Given the description of an element on the screen output the (x, y) to click on. 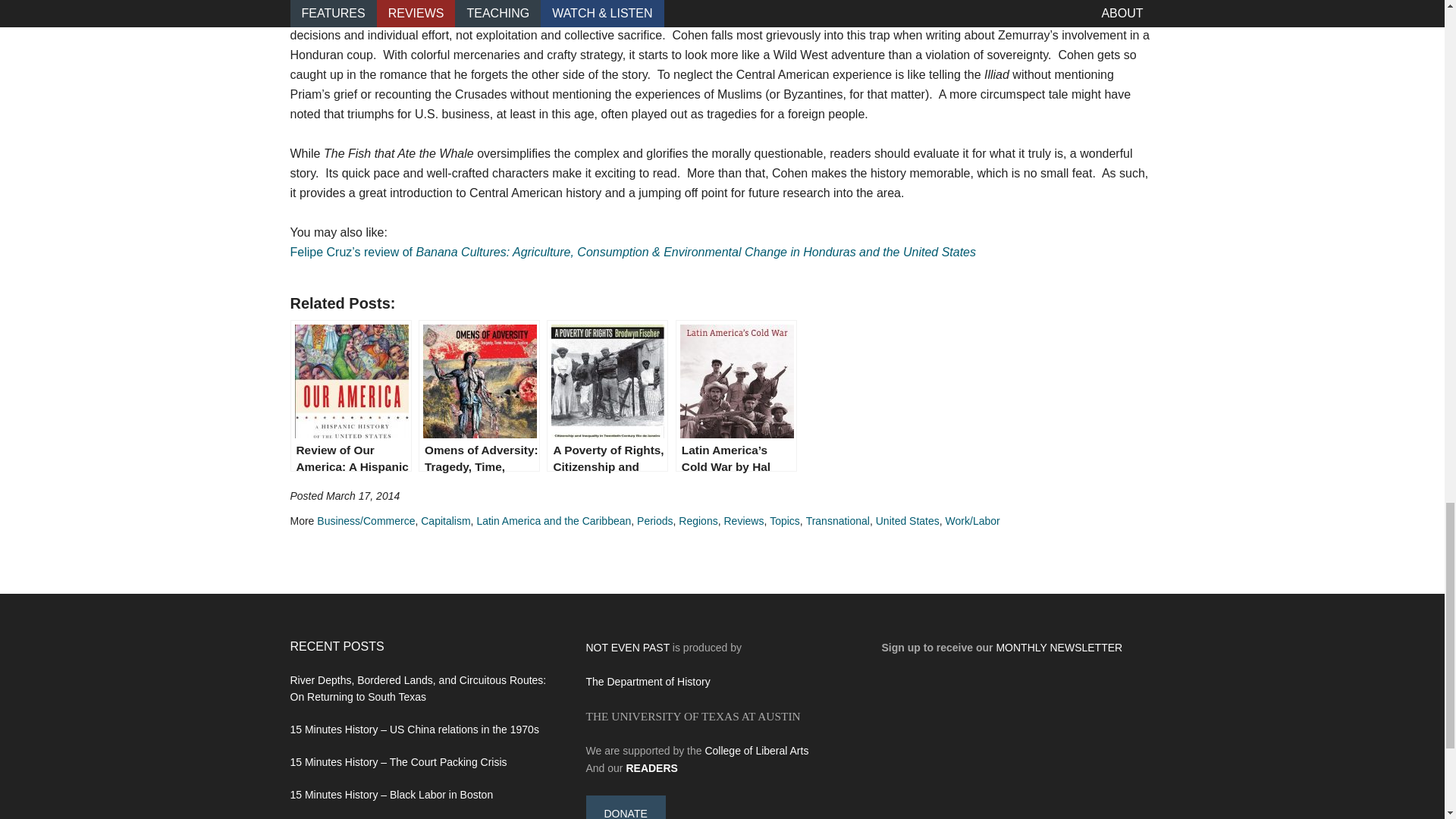
Regions (697, 521)
Periods (654, 521)
Reviews (742, 521)
The Department of History (647, 681)
THE UNIVERSITY OF TEXAS AT AUSTIN (692, 716)
MONTHLY NEWSLETTER (1058, 647)
United States (907, 521)
Topics (784, 521)
DONATE (625, 806)
Transnational (837, 521)
